Given the description of an element on the screen output the (x, y) to click on. 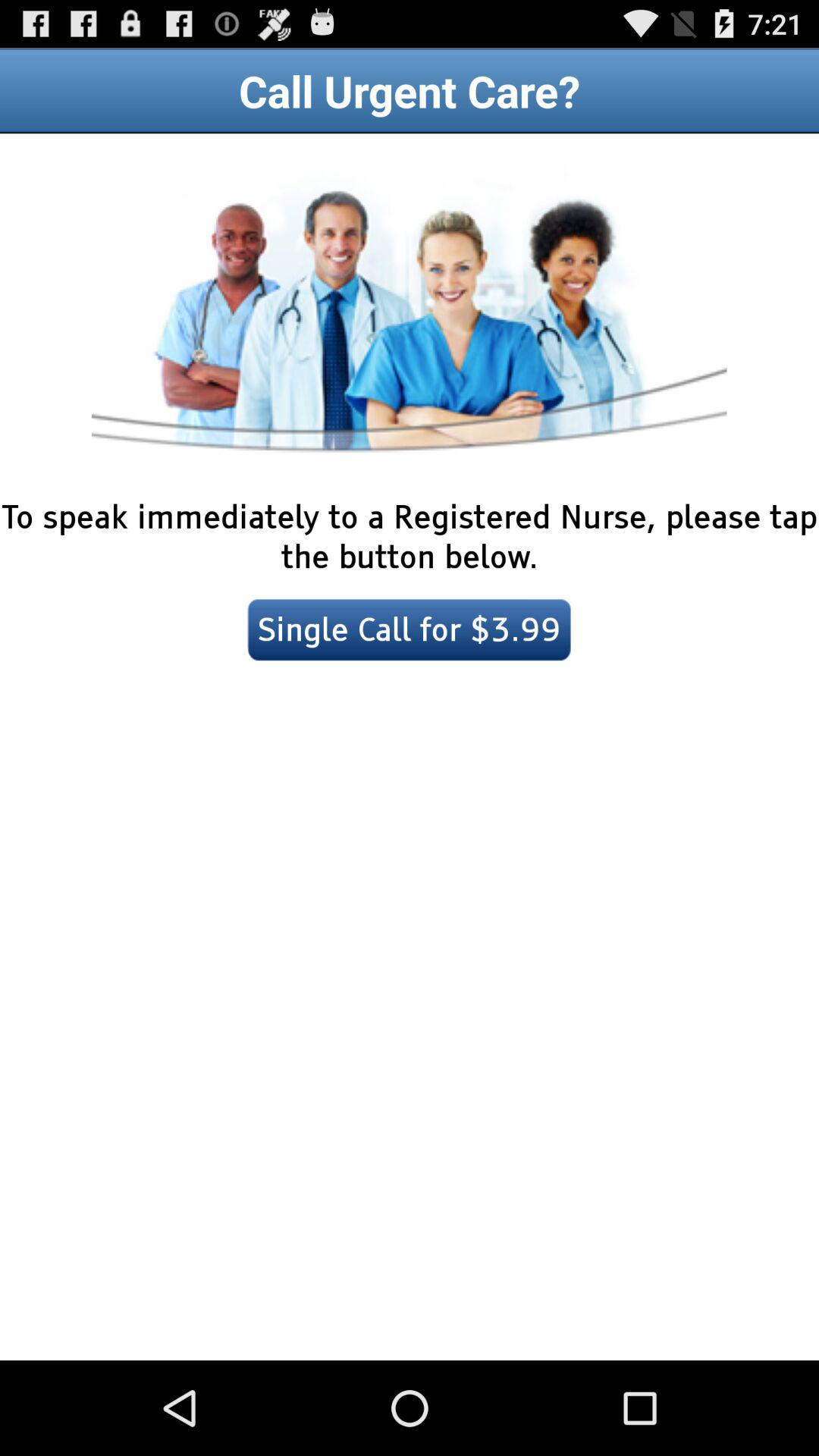
open the single call for (409, 629)
